Given the description of an element on the screen output the (x, y) to click on. 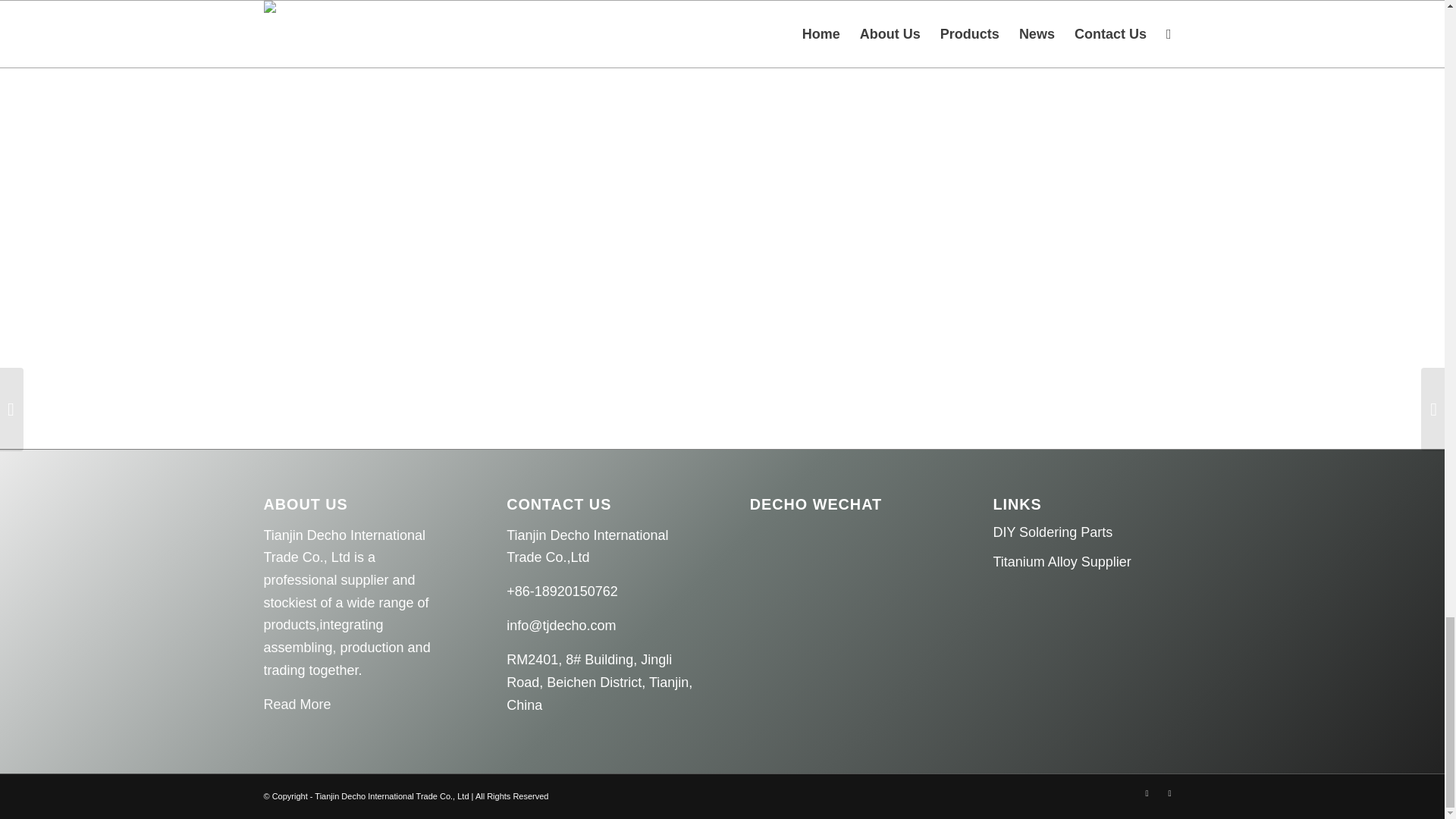
DECHO Wechat (817, 586)
Dribbble (1169, 793)
Twitter (1146, 793)
